Given the description of an element on the screen output the (x, y) to click on. 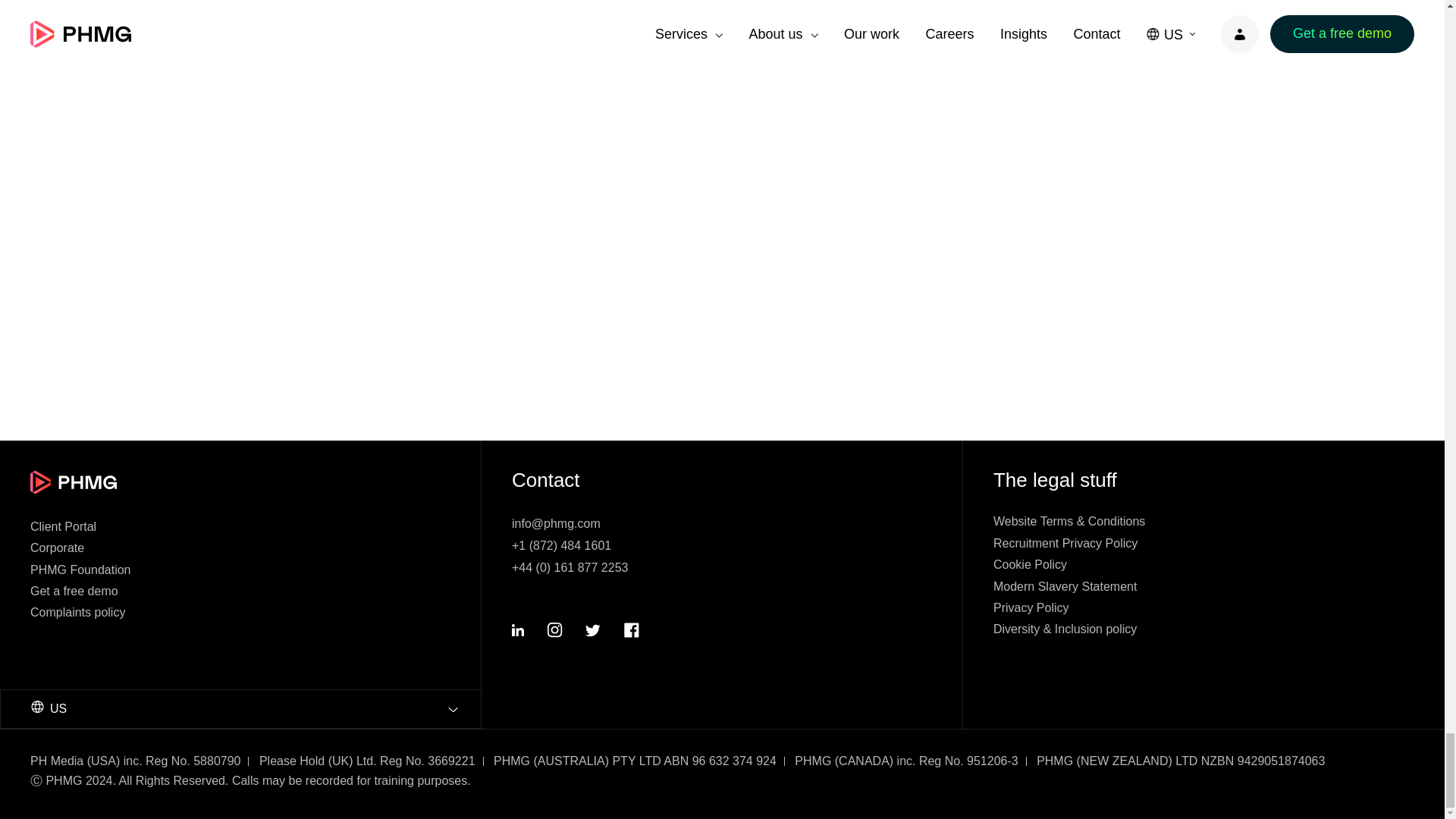
Corporate (57, 548)
PHMG (73, 481)
PHMG Foundation (80, 570)
Client Portal (63, 526)
